Given the description of an element on the screen output the (x, y) to click on. 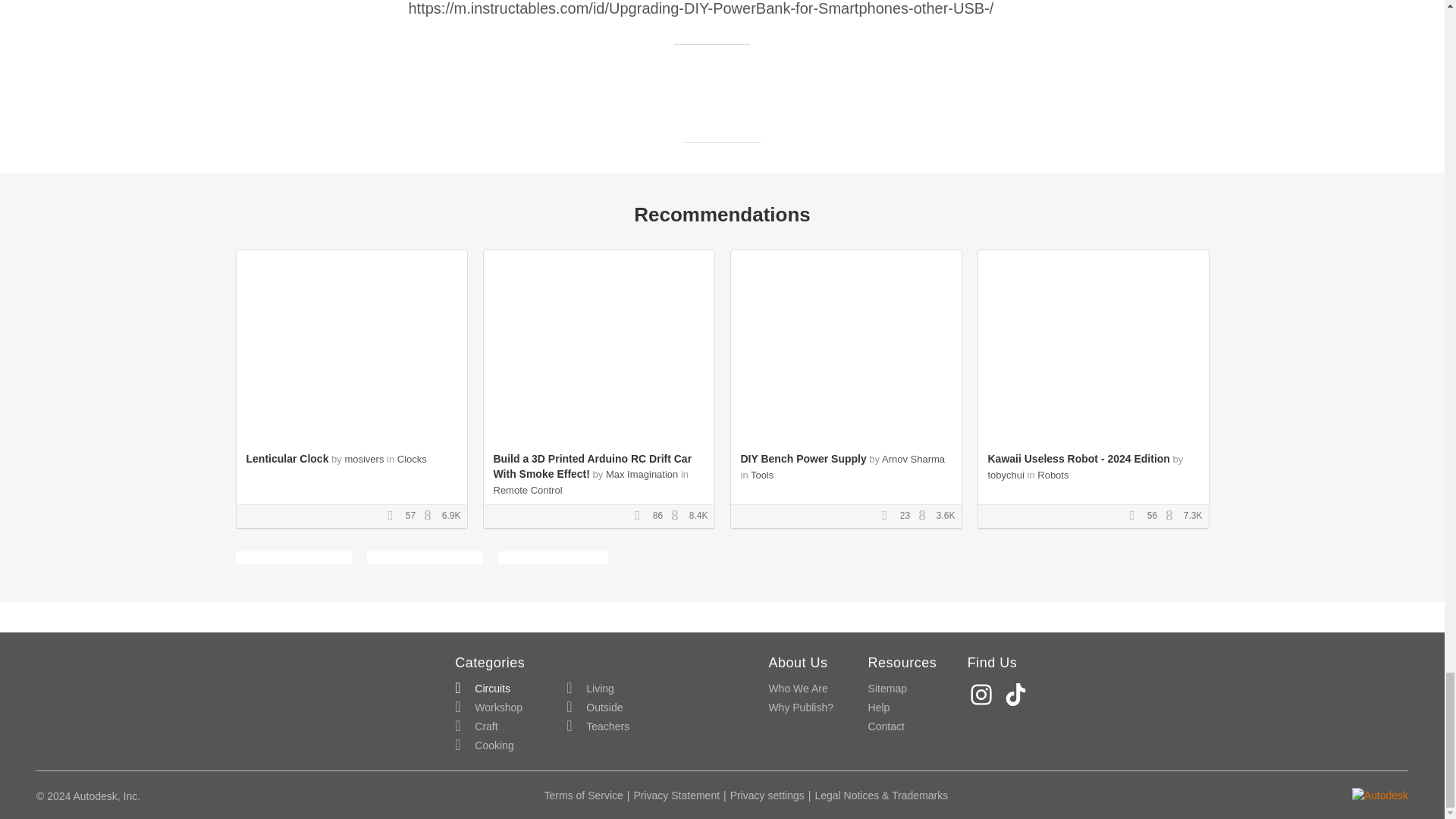
Favorites Count (395, 516)
Remote Control (527, 490)
Arnov Sharma (913, 459)
Instagram (983, 694)
Circuits (482, 688)
Favorites Count (641, 516)
Workshop (488, 707)
mosivers (363, 459)
Kawaii Useless Robot - 2024 Edition (1078, 458)
Tools (762, 474)
TikTok (1018, 694)
Lenticular Clock (287, 458)
Views Count (1173, 516)
Favorites Count (1136, 516)
Robots (1052, 474)
